Given the description of an element on the screen output the (x, y) to click on. 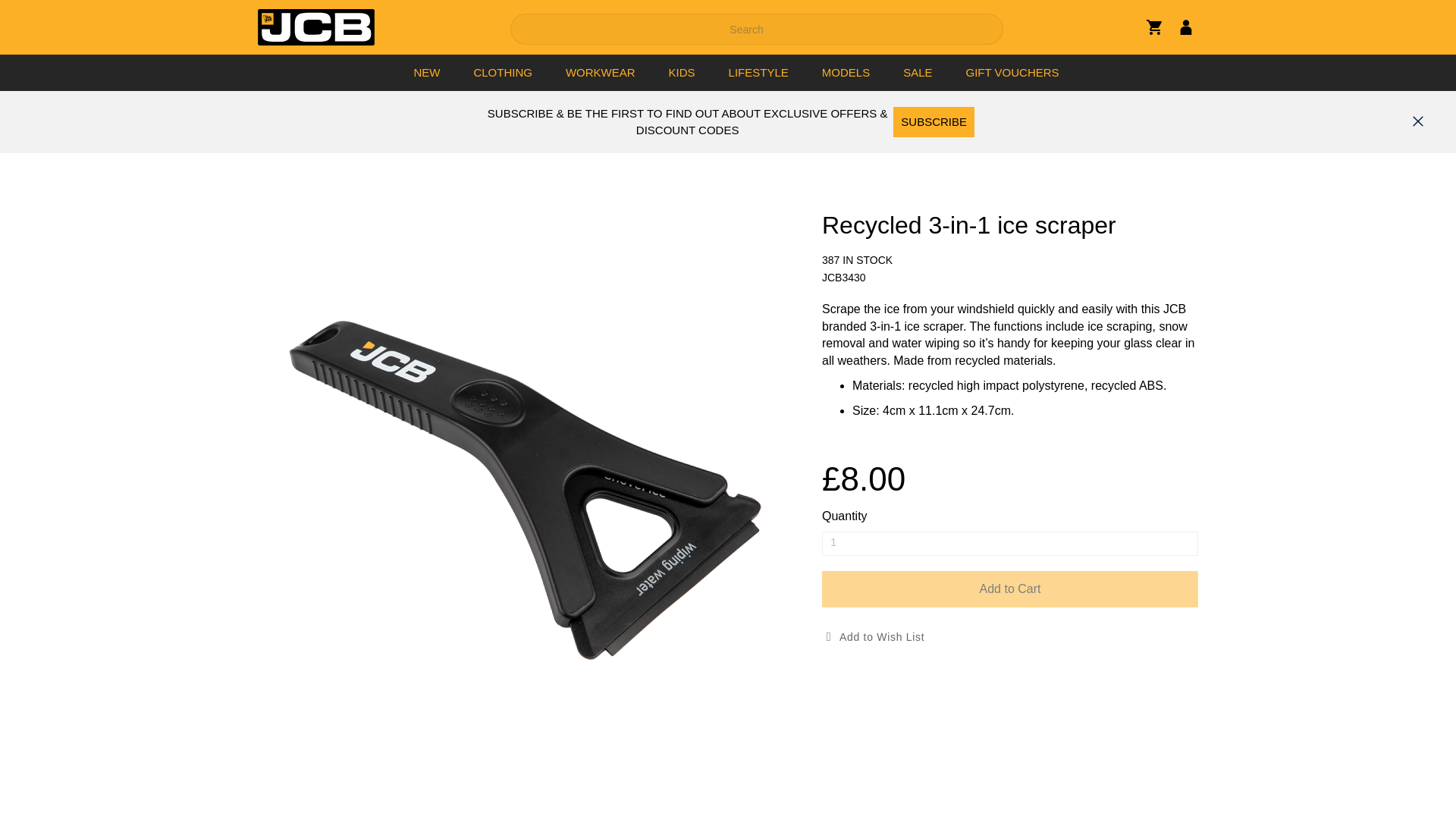
GIFT VOUCHERS (1012, 72)
WORKWEAR (600, 72)
Availability (1010, 260)
Add to Cart (1010, 588)
Subscribe (933, 122)
CLOTHING (502, 72)
MODELS (845, 72)
LIFESTYLE (759, 72)
